Given the description of an element on the screen output the (x, y) to click on. 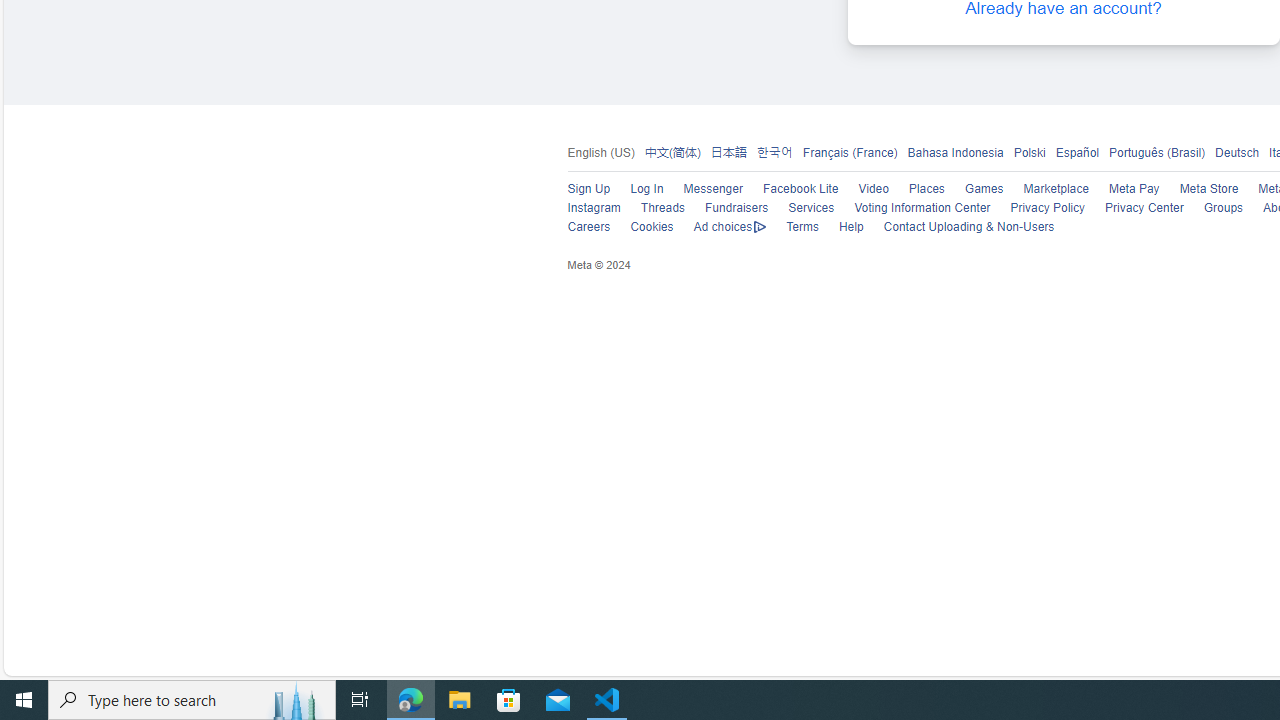
Log In (646, 189)
Deutsch (1231, 153)
Fundraisers (726, 208)
Sign Up (588, 189)
English (US) (600, 153)
Facebook Lite (790, 190)
Bahasa Indonesia (950, 153)
Ad choices (719, 228)
Fundraisers (736, 208)
Messenger (712, 189)
Help (840, 228)
